Given the description of an element on the screen output the (x, y) to click on. 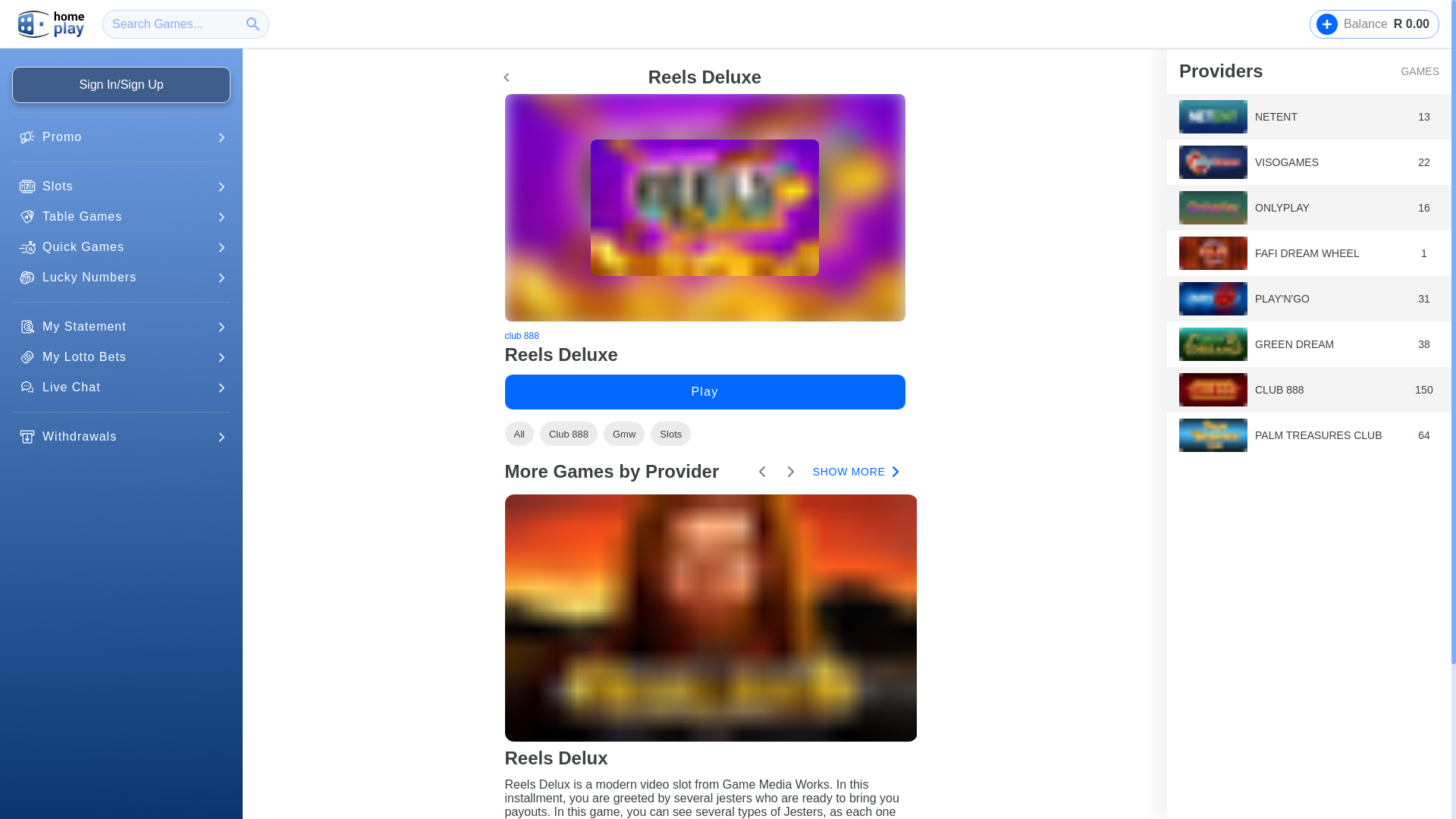
Live Chat (120, 387)
Search Games... (185, 23)
All (519, 433)
Play (705, 391)
Promo (120, 137)
My Statement (120, 326)
Gmw (624, 433)
SHOW MORE (854, 471)
Slots (120, 186)
My Lotto Bets (120, 356)
Quick Games (1373, 23)
Slots (120, 247)
Club 888 (670, 433)
Table Games (568, 433)
